Given the description of an element on the screen output the (x, y) to click on. 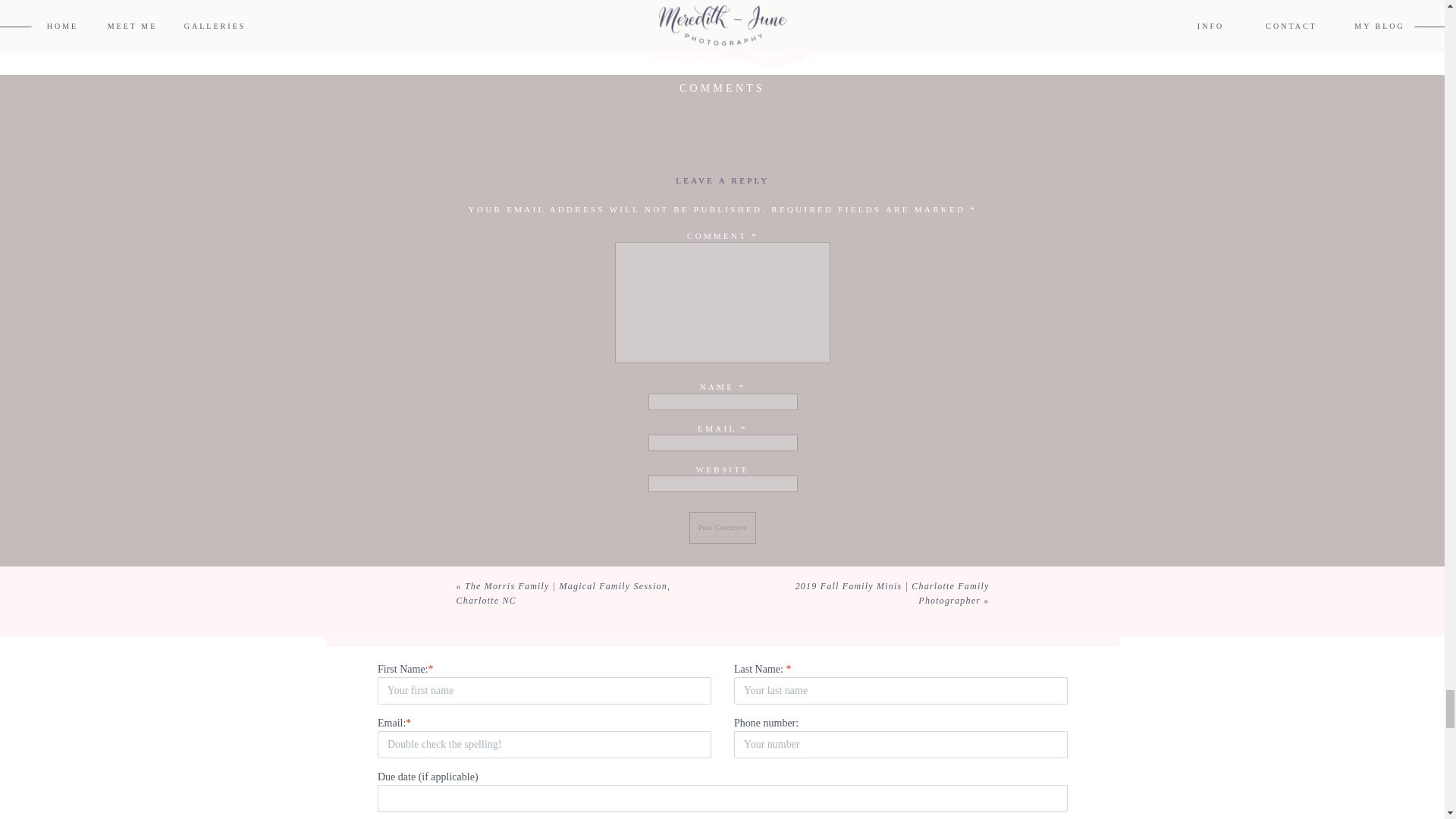
Post Comment (721, 527)
Post Comment (721, 527)
